Given the description of an element on the screen output the (x, y) to click on. 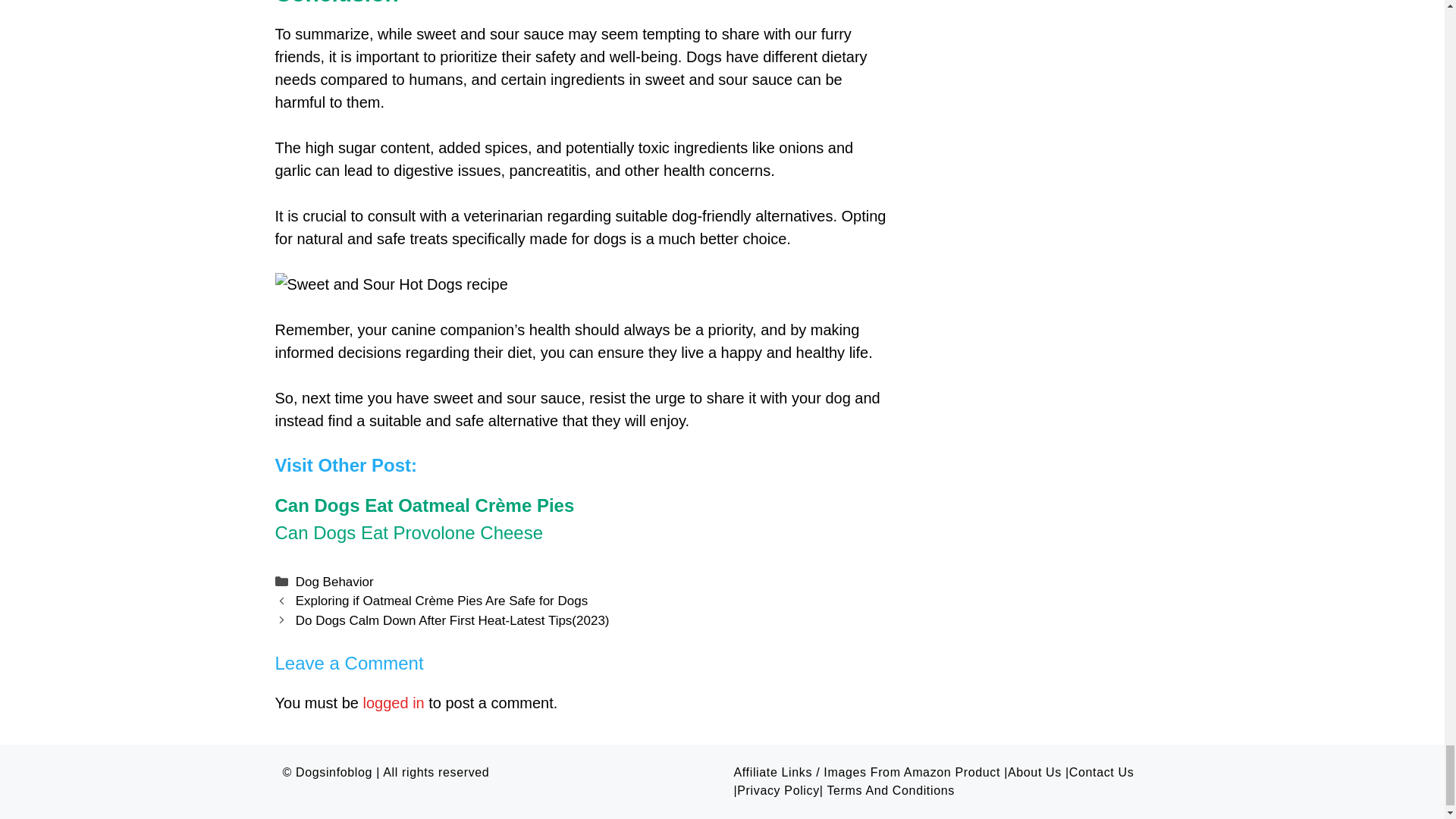
Terms And Conditions (890, 789)
Dog Behavior (334, 581)
Contact Us (1101, 771)
About Us (1034, 771)
logged in (393, 702)
Can Dogs Eat Provolone Cheese (409, 532)
